Given the description of an element on the screen output the (x, y) to click on. 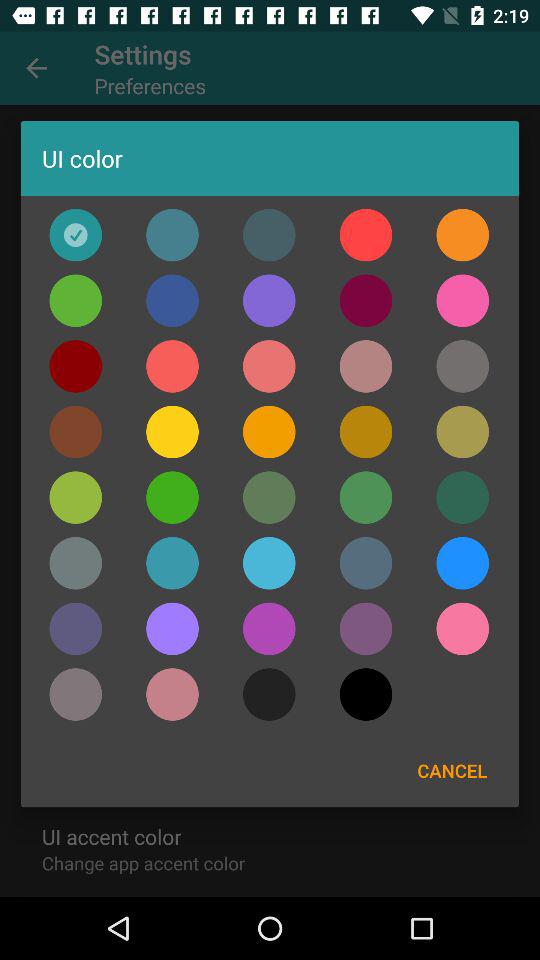
turn on item above the cancel icon (462, 628)
